Given the description of an element on the screen output the (x, y) to click on. 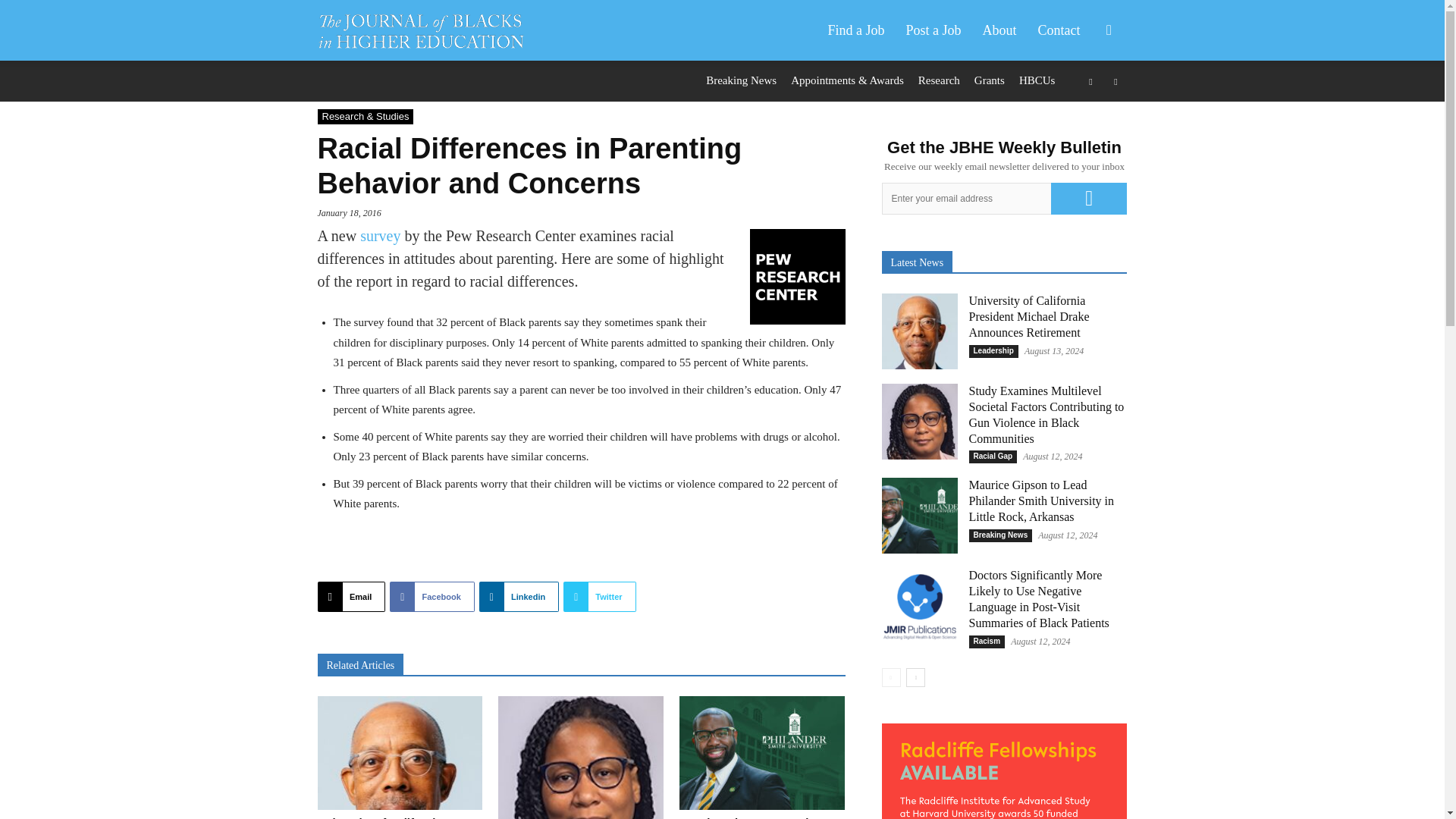
About (999, 30)
Twitter (598, 596)
Grants (989, 80)
about (999, 30)
The Journal of Blacks in Higher Education (419, 30)
Linkedin (519, 596)
HBCUs (1037, 80)
Find a Job (855, 30)
